Given the description of an element on the screen output the (x, y) to click on. 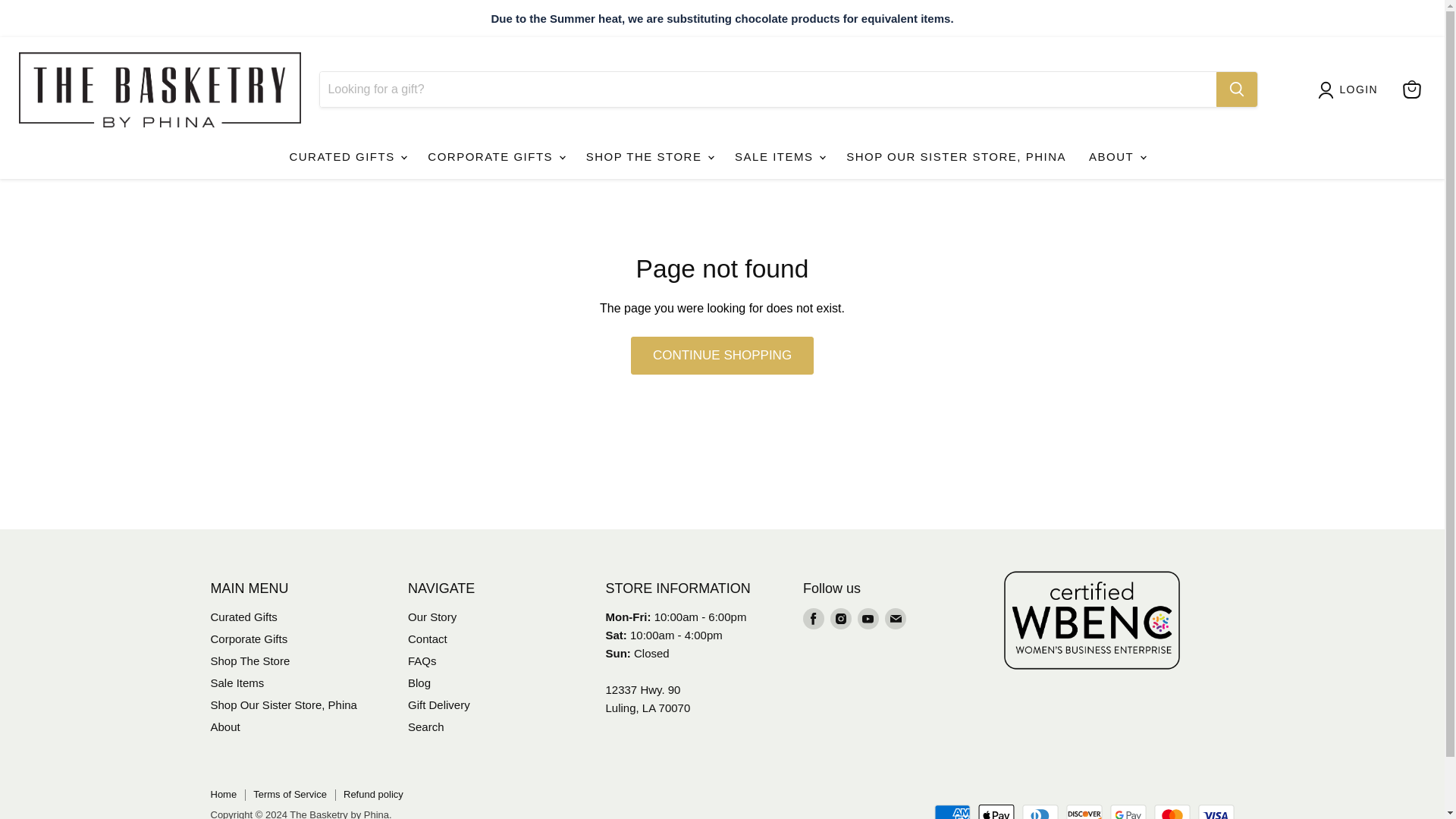
CORPORATE GIFTS (494, 156)
View cart (1411, 89)
SHOP THE STORE (649, 156)
Apple Pay (996, 811)
LOGIN (1358, 89)
Diners Club (1040, 811)
CURATED GIFTS (347, 156)
Google Pay (1128, 811)
Email (895, 618)
American Express (952, 811)
Facebook (813, 618)
Discover (1083, 811)
Visa (1216, 811)
Youtube (868, 618)
Mastercard (1172, 811)
